Given the description of an element on the screen output the (x, y) to click on. 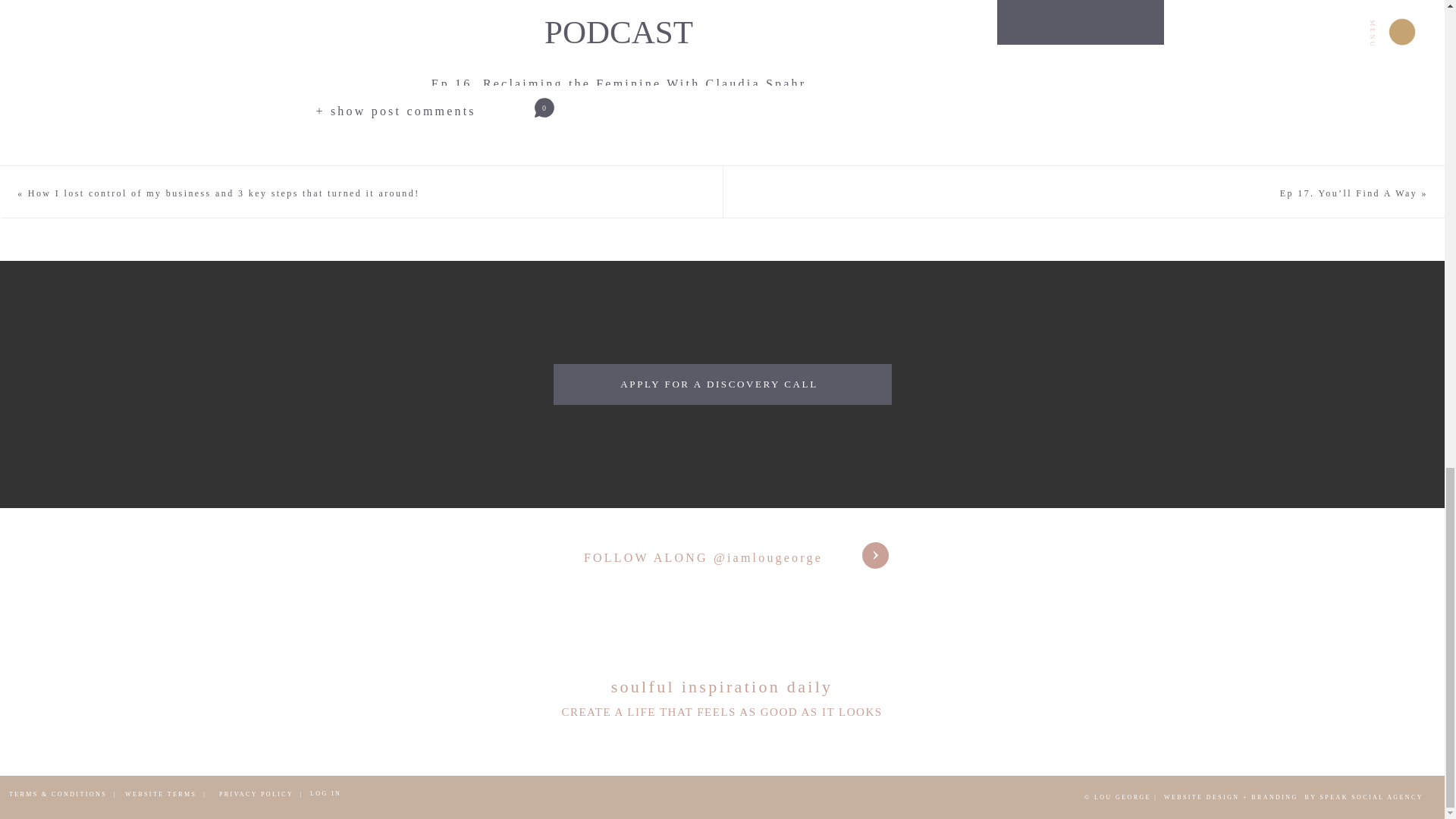
Claudia Spahr (374, 115)
Right Time Baby (737, 115)
Watch on YouTube (1080, 12)
